Given the description of an element on the screen output the (x, y) to click on. 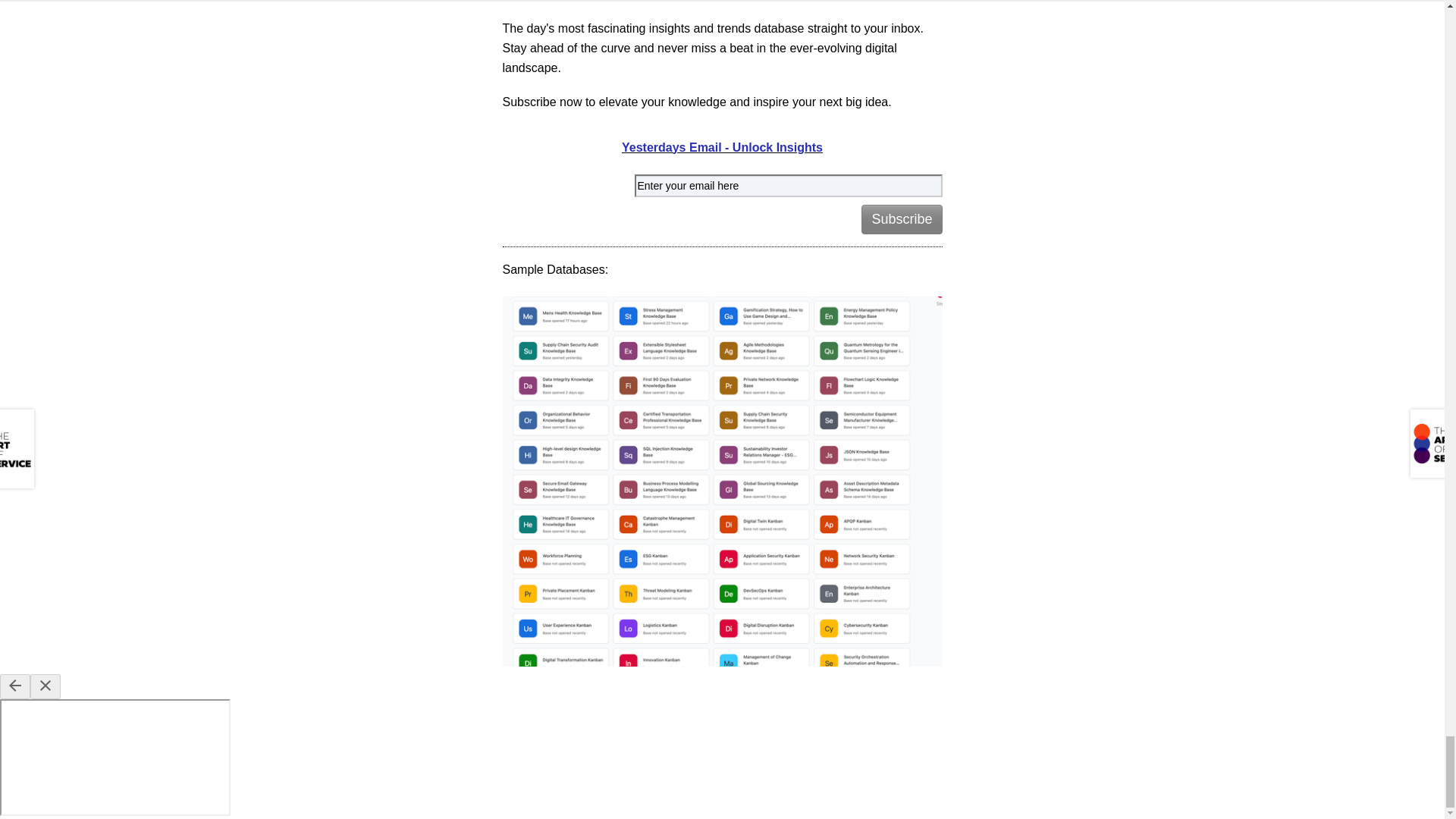
Enter your email here (787, 186)
Subscribe (901, 219)
